Given the description of an element on the screen output the (x, y) to click on. 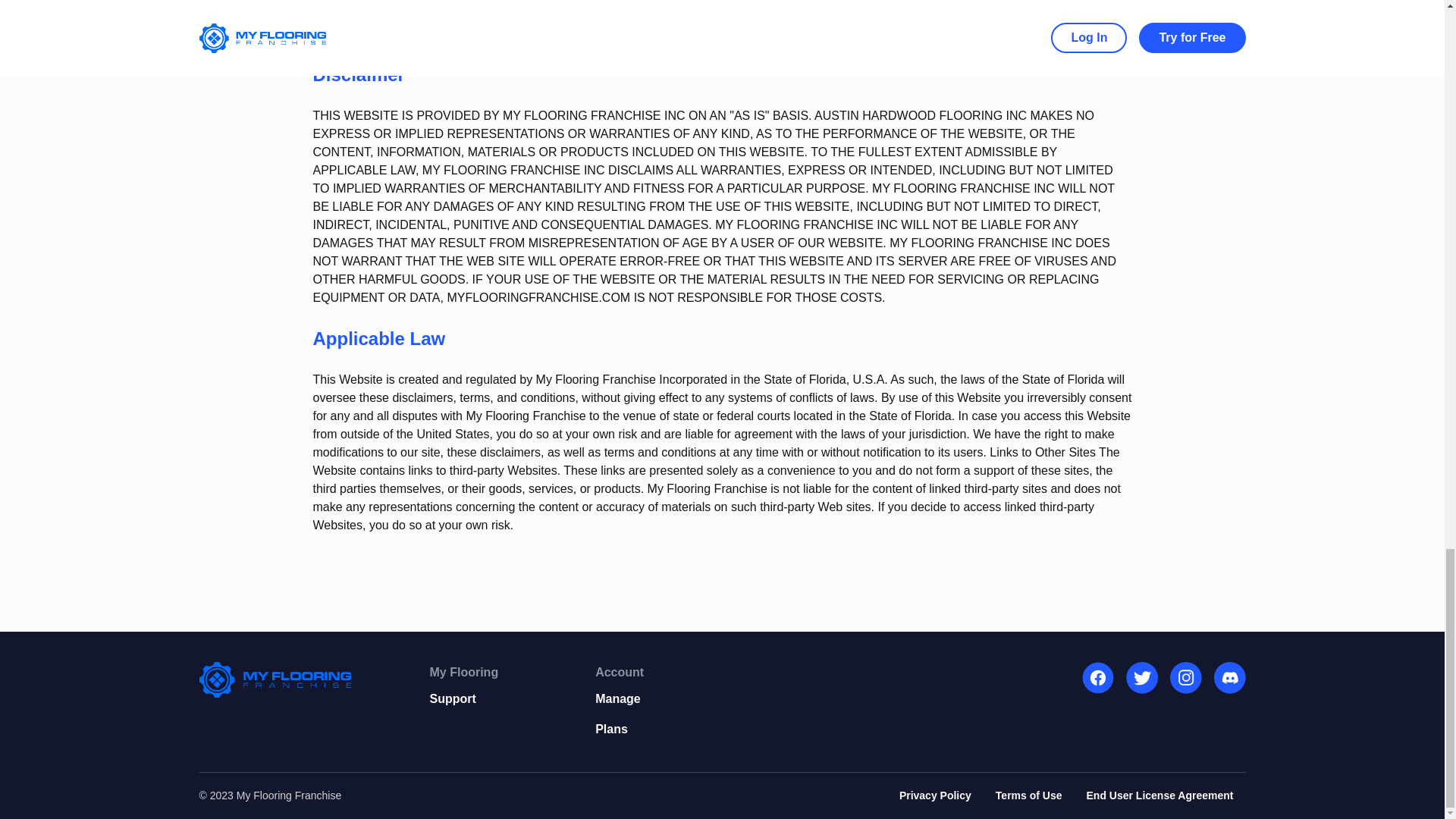
Support (463, 698)
Plans (619, 729)
Terms of Use (1028, 795)
End User License Agreement (1159, 795)
Privacy Policy (935, 795)
Manage (619, 698)
